Given the description of an element on the screen output the (x, y) to click on. 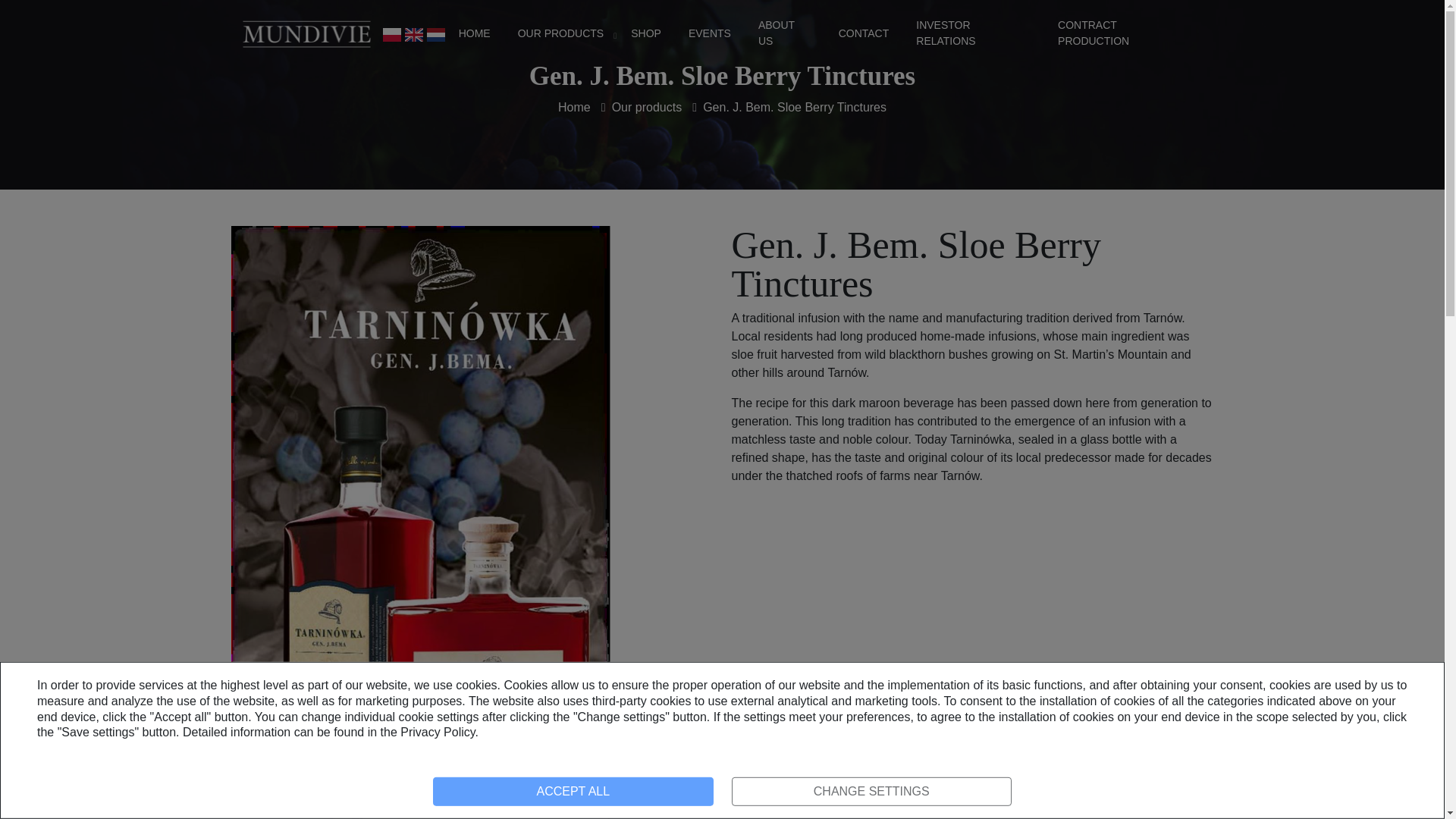
ABOUT US (784, 33)
OUR PRODUCTS (561, 34)
INVESTOR RELATIONS (973, 33)
SHOP (645, 34)
ACCEPT ALL (572, 791)
CONTACT (863, 34)
HOME (474, 34)
EVENTS (709, 34)
CONTRACT PRODUCTION (1122, 33)
CHANGE SETTINGS (870, 791)
